Given the description of an element on the screen output the (x, y) to click on. 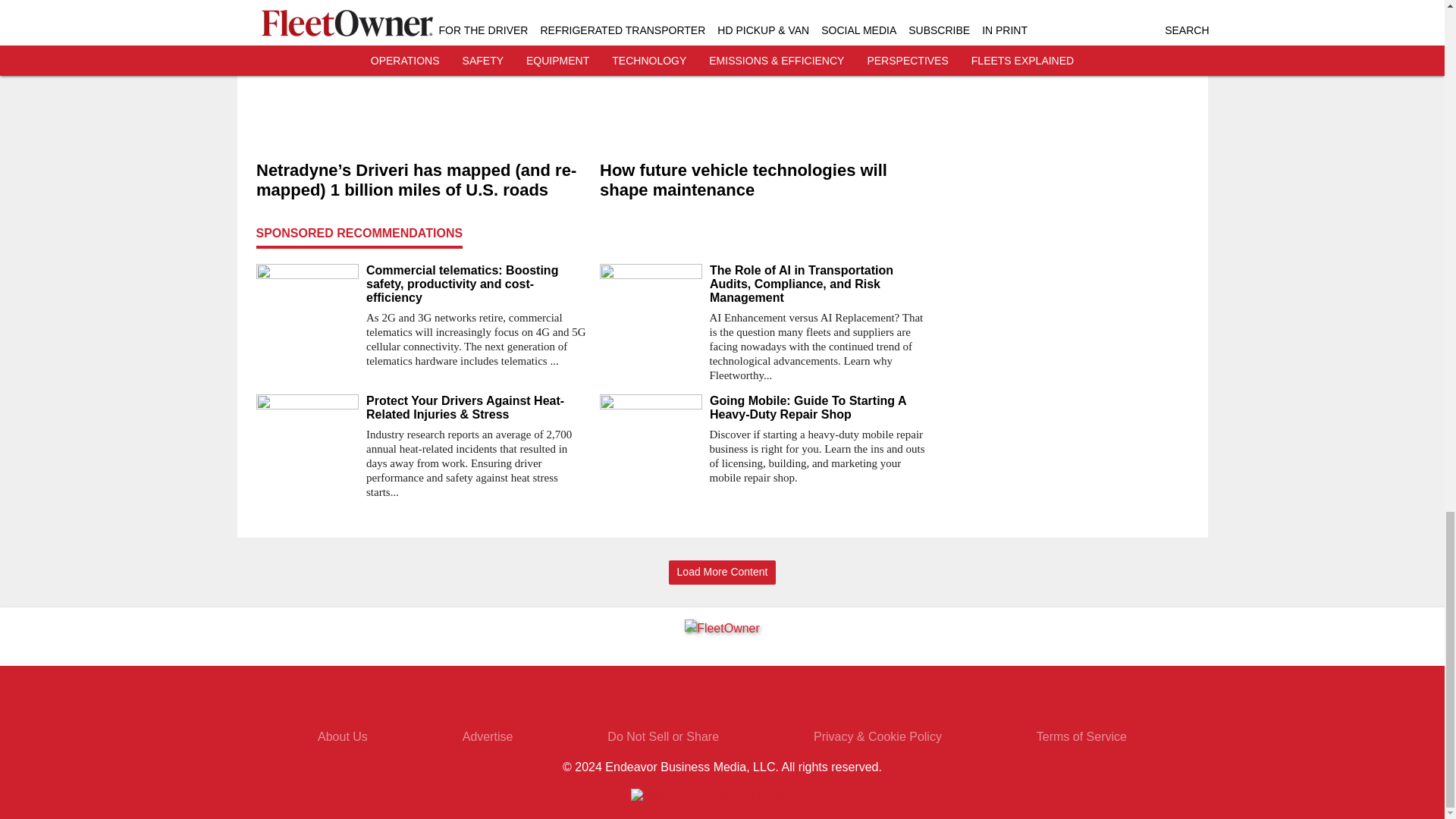
Going Mobile: Guide To Starting A Heavy-Duty Repair Shop (820, 407)
How future vehicle technologies will shape maintenance (764, 180)
